Given the description of an element on the screen output the (x, y) to click on. 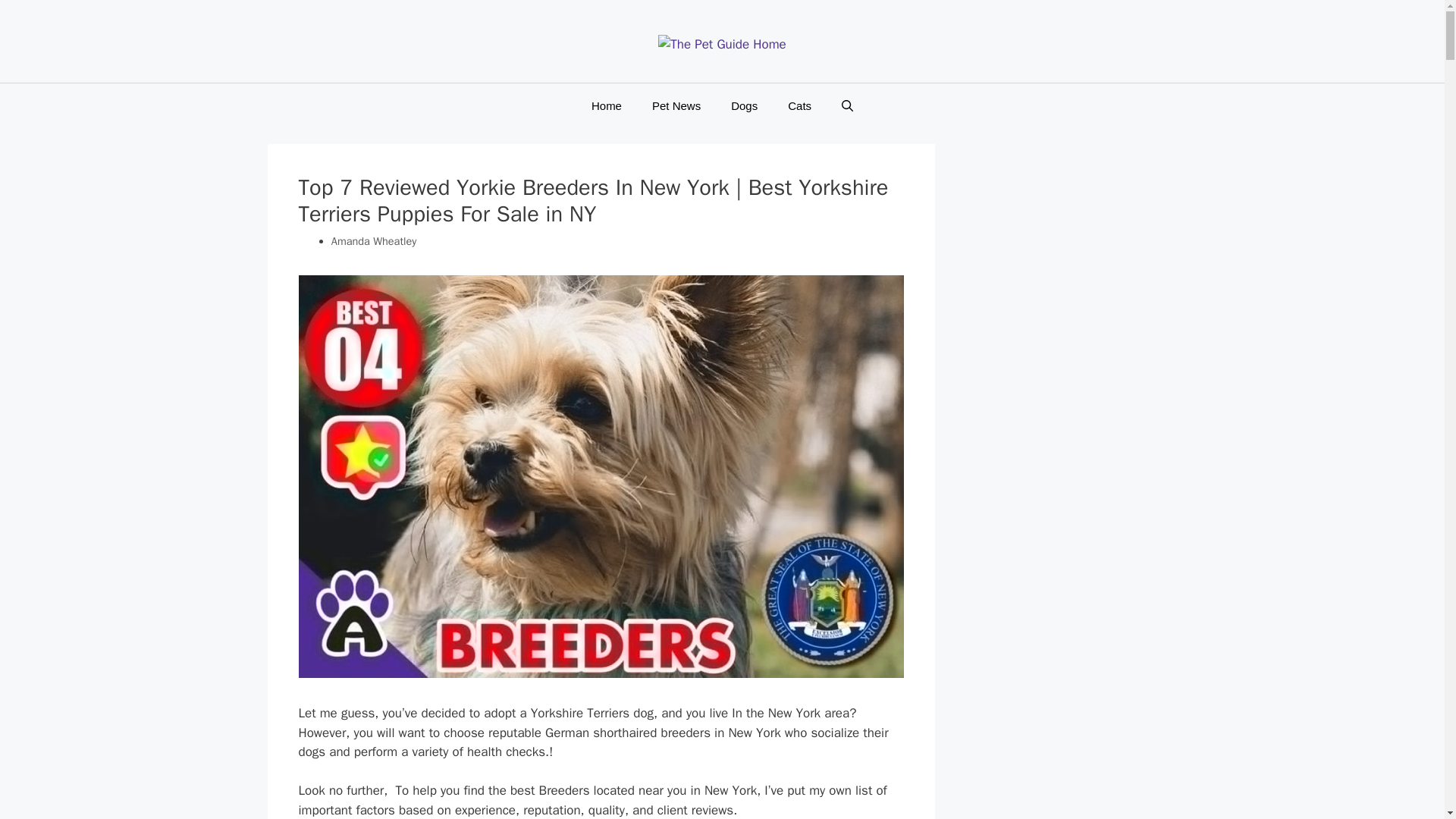
Home (606, 105)
The Pet Guide Home (722, 44)
Cats (800, 105)
Dogs (744, 105)
Amanda Wheatley (373, 241)
Pet News (676, 105)
Amanda Wheatley (373, 241)
The Pet Guide Home (722, 44)
